Given the description of an element on the screen output the (x, y) to click on. 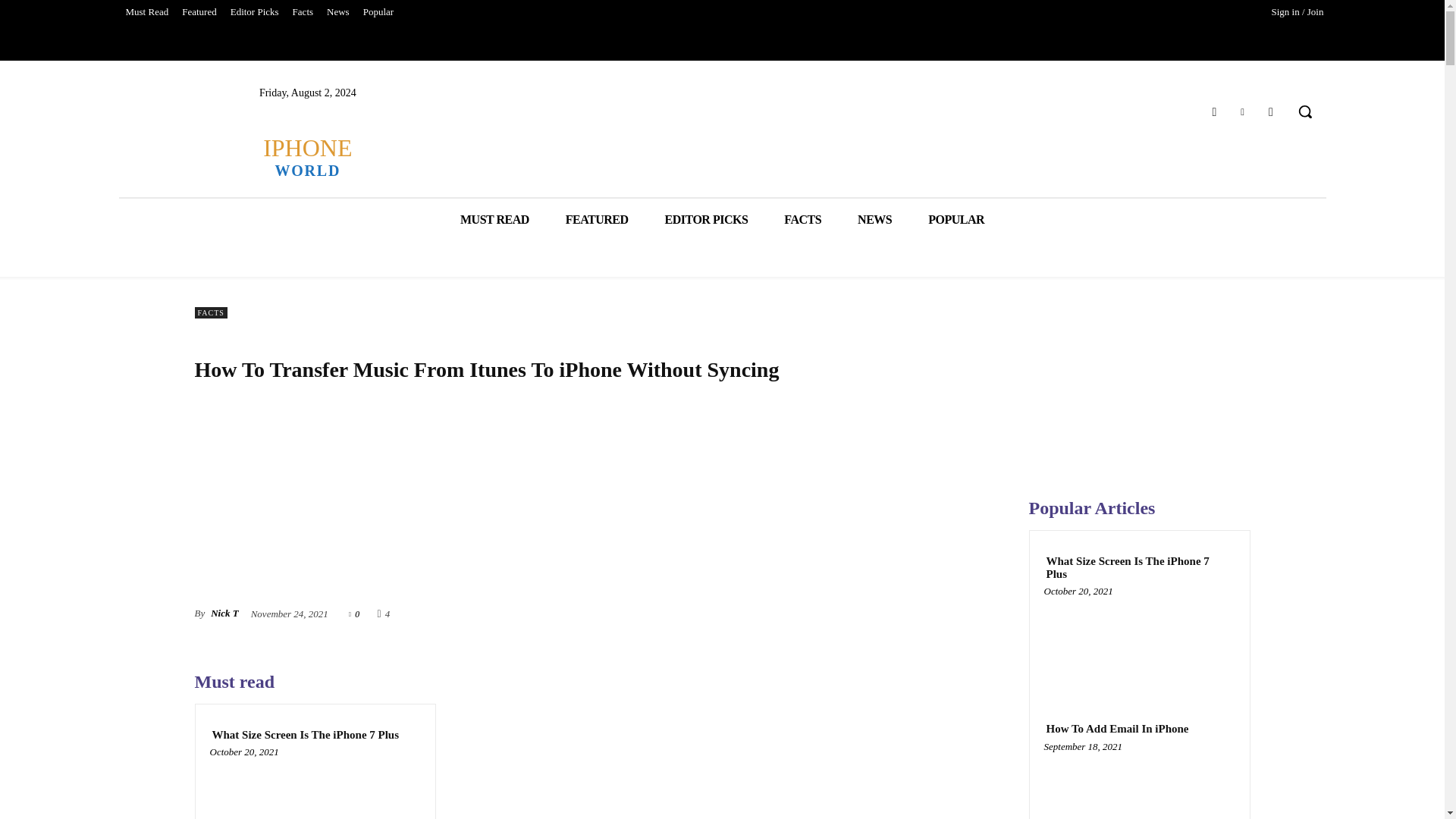
Featured (198, 12)
Editor Picks (254, 12)
MUST READ (494, 219)
What Size Screen Is The iPhone 7 Plus (305, 735)
Must Read (145, 12)
FEATURED (596, 219)
What Size Screen Is The iPhone 7 Plus (314, 787)
News (338, 12)
NEWS (875, 219)
